Given the description of an element on the screen output the (x, y) to click on. 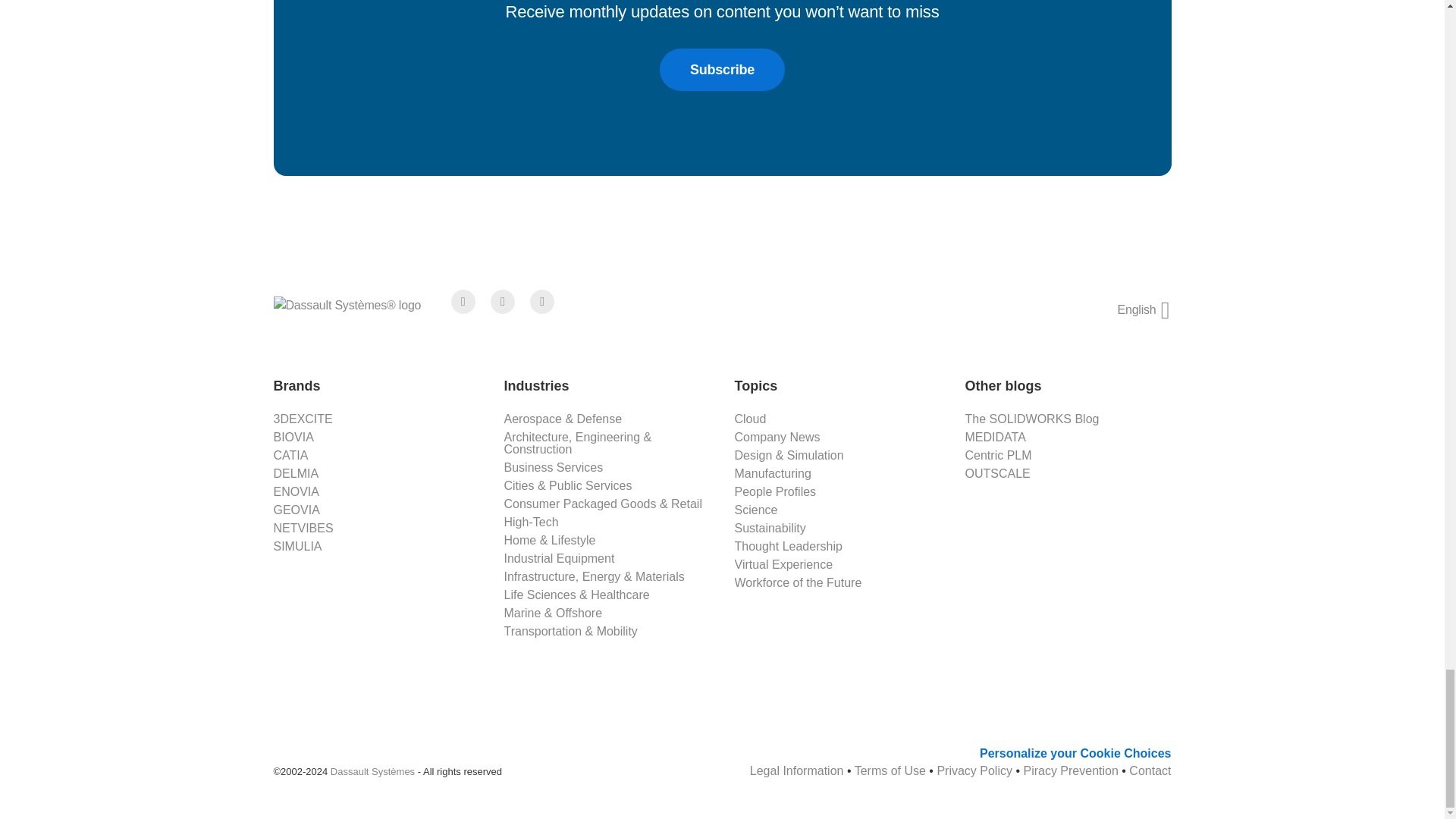
Linkedin account (541, 302)
Facebook account (463, 302)
Twitter account (502, 302)
